Given the description of an element on the screen output the (x, y) to click on. 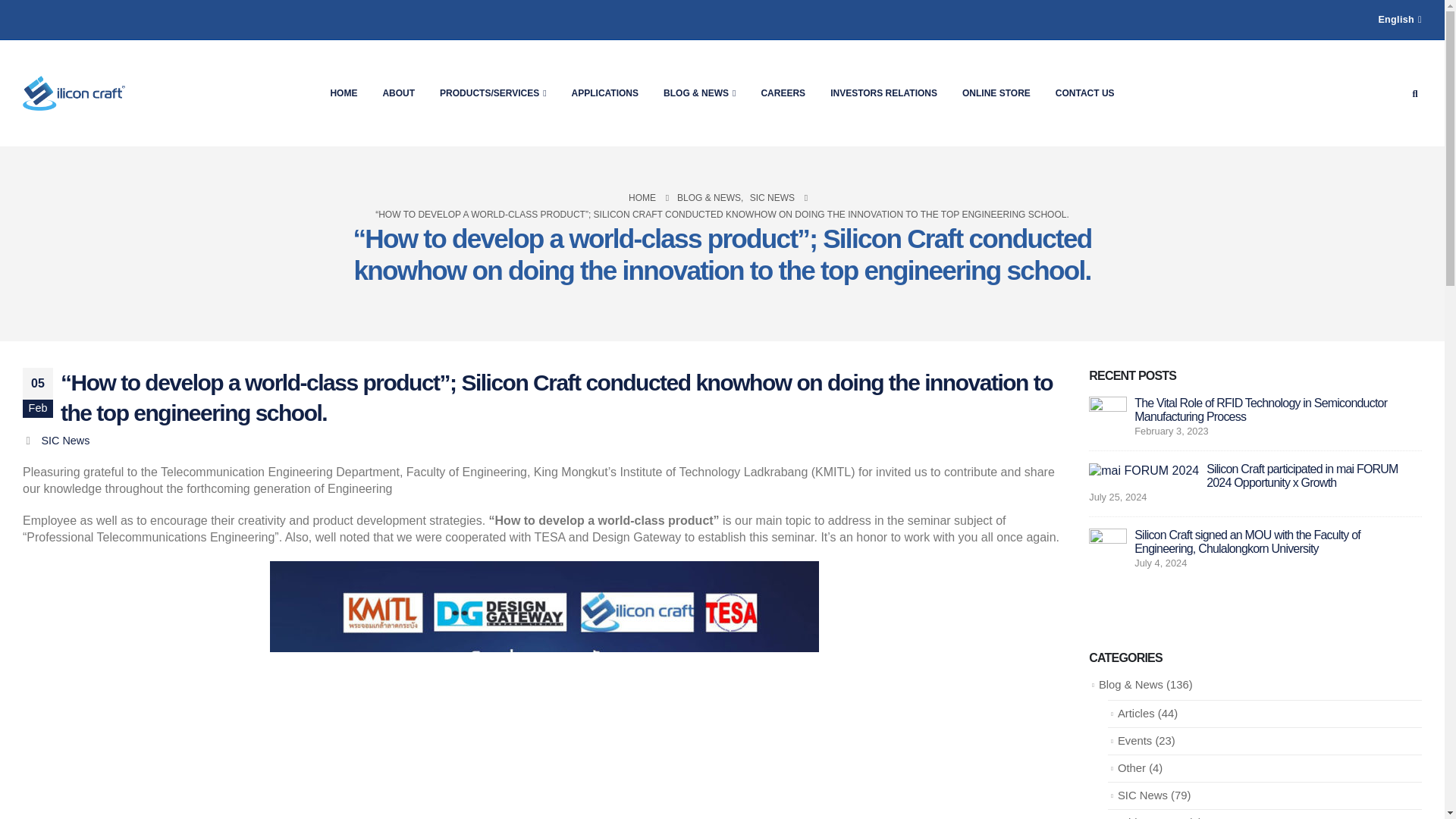
ONLINE STORE (996, 93)
ABOUT (397, 93)
HOME (642, 197)
SIC News (64, 440)
CONTACT US (1084, 93)
APPLICATIONS (604, 93)
INVESTORS RELATIONS (883, 93)
English (1399, 19)
HOME (343, 93)
SIC NEWS (771, 197)
CAREERS (782, 93)
Go to Home Page (642, 197)
English (1399, 19)
